Given the description of an element on the screen output the (x, y) to click on. 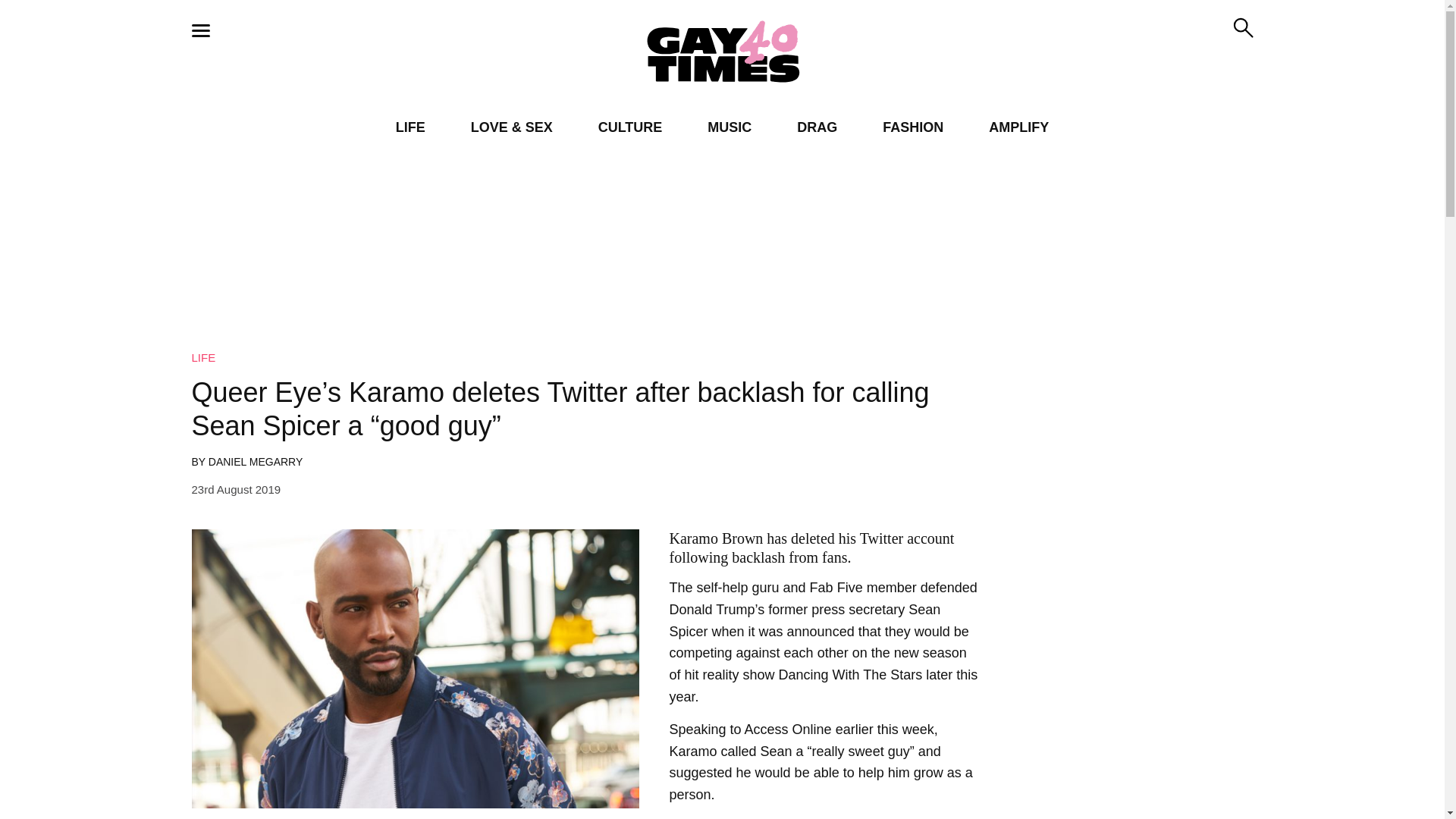
LIFE (202, 357)
AMPLIFY (1018, 127)
FASHION (912, 127)
CULTURE (630, 127)
DANIEL MEGARRY (255, 461)
LIFE (410, 127)
DRAG (816, 127)
MUSIC (729, 127)
